Given the description of an element on the screen output the (x, y) to click on. 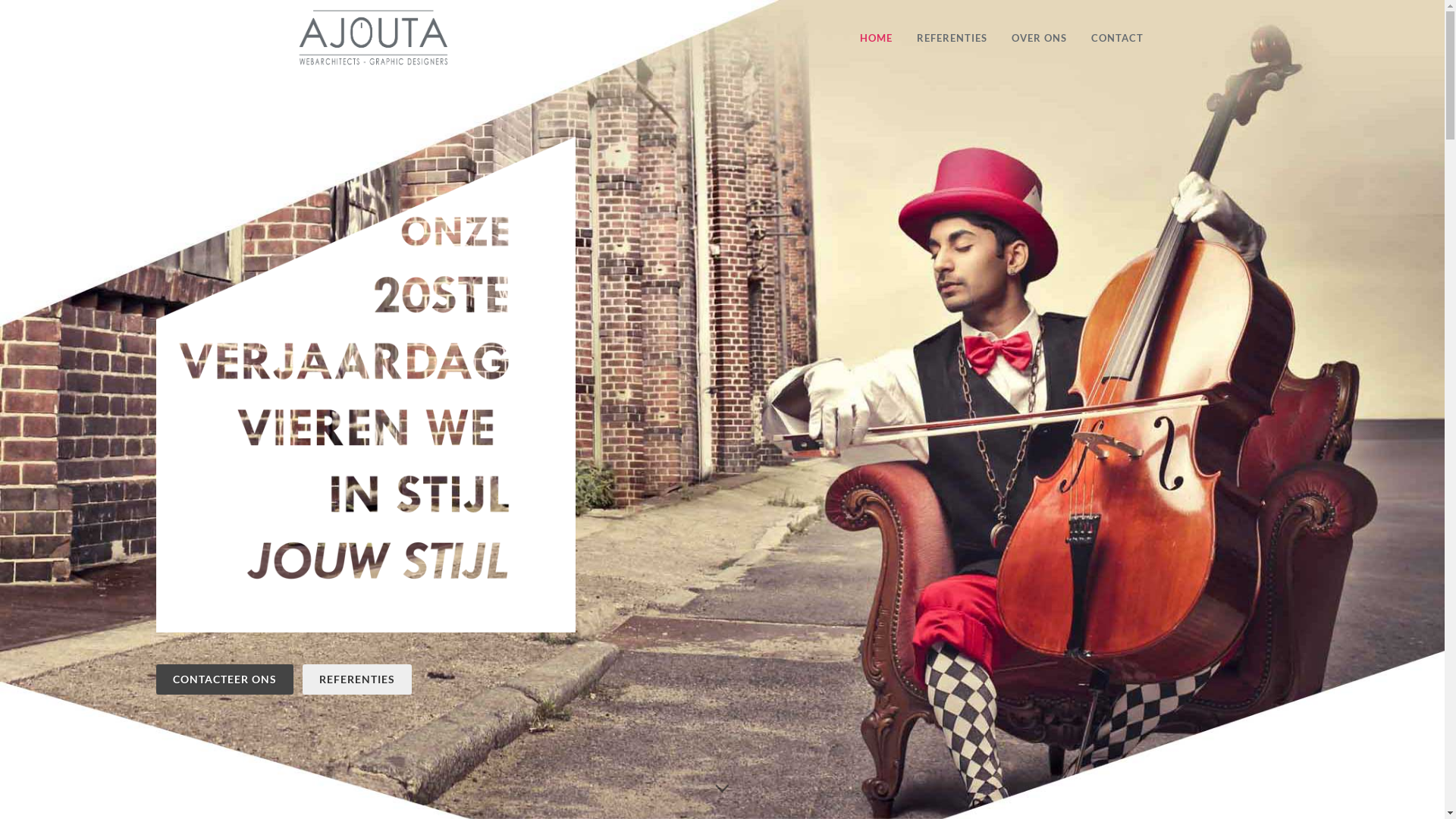
CONTACT Element type: text (1116, 37)
OVER ONS Element type: text (1038, 37)
CONTACTEER ONS Element type: text (224, 679)
HOME Element type: text (875, 37)
REFERENTIES Element type: text (356, 679)
REFERENTIES Element type: text (951, 37)
